Given the description of an element on the screen output the (x, y) to click on. 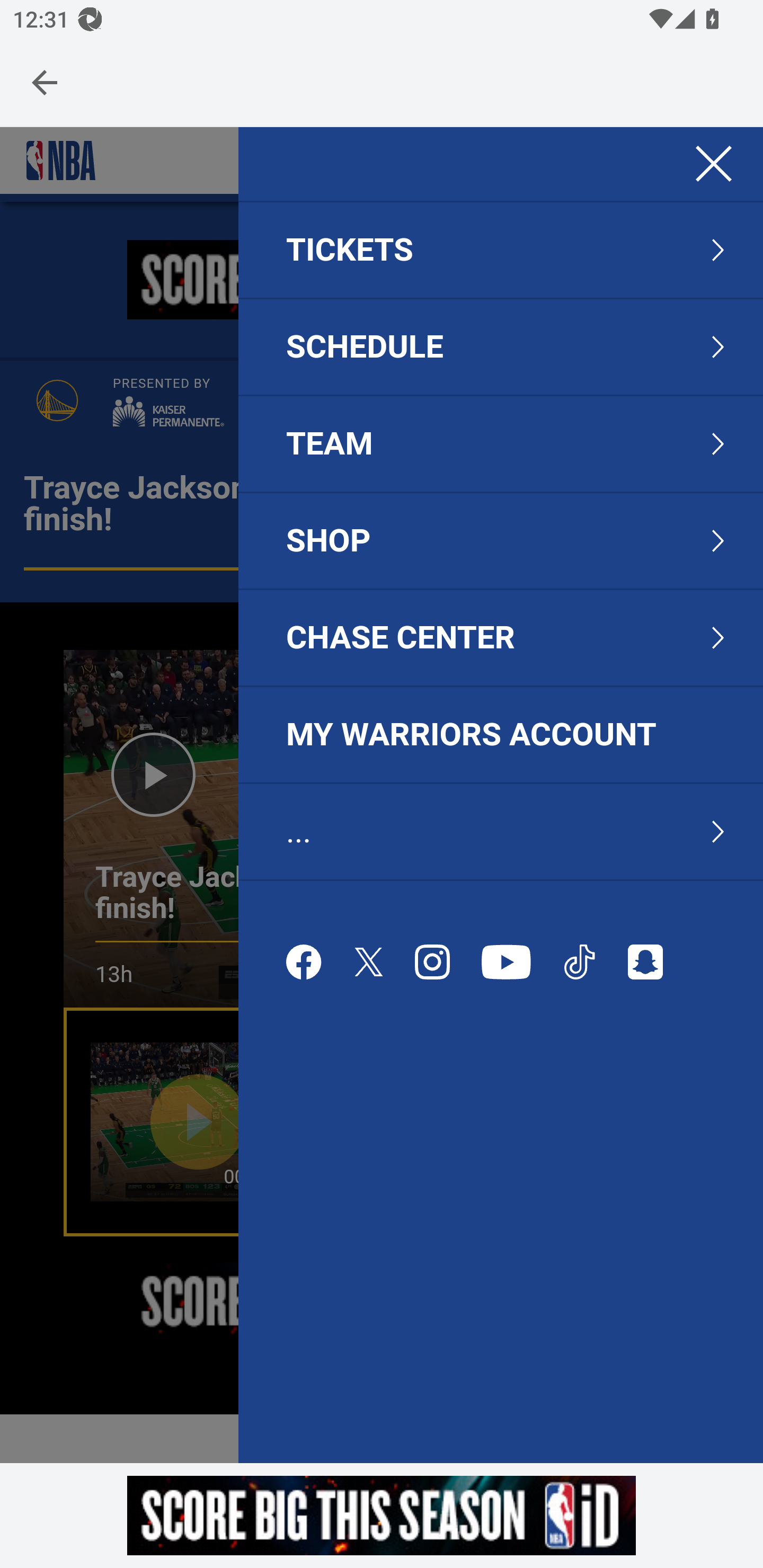
Navigate up (44, 82)
Global Navigation Toggle (713, 164)
TICKETS (349, 249)
SCHEDULE (365, 347)
TEAM (329, 444)
SHOP (329, 540)
CHASE CENTER (400, 638)
MY WARRIORS ACCOUNT (500, 735)
... (298, 831)
Find us on Facebook (304, 961)
Find us on Instagram (432, 961)
Find us on YouTube (506, 961)
Find us on TikTok (579, 961)
Find us on SnapChat (645, 961)
Find us on X (368, 961)
